Given the description of an element on the screen output the (x, y) to click on. 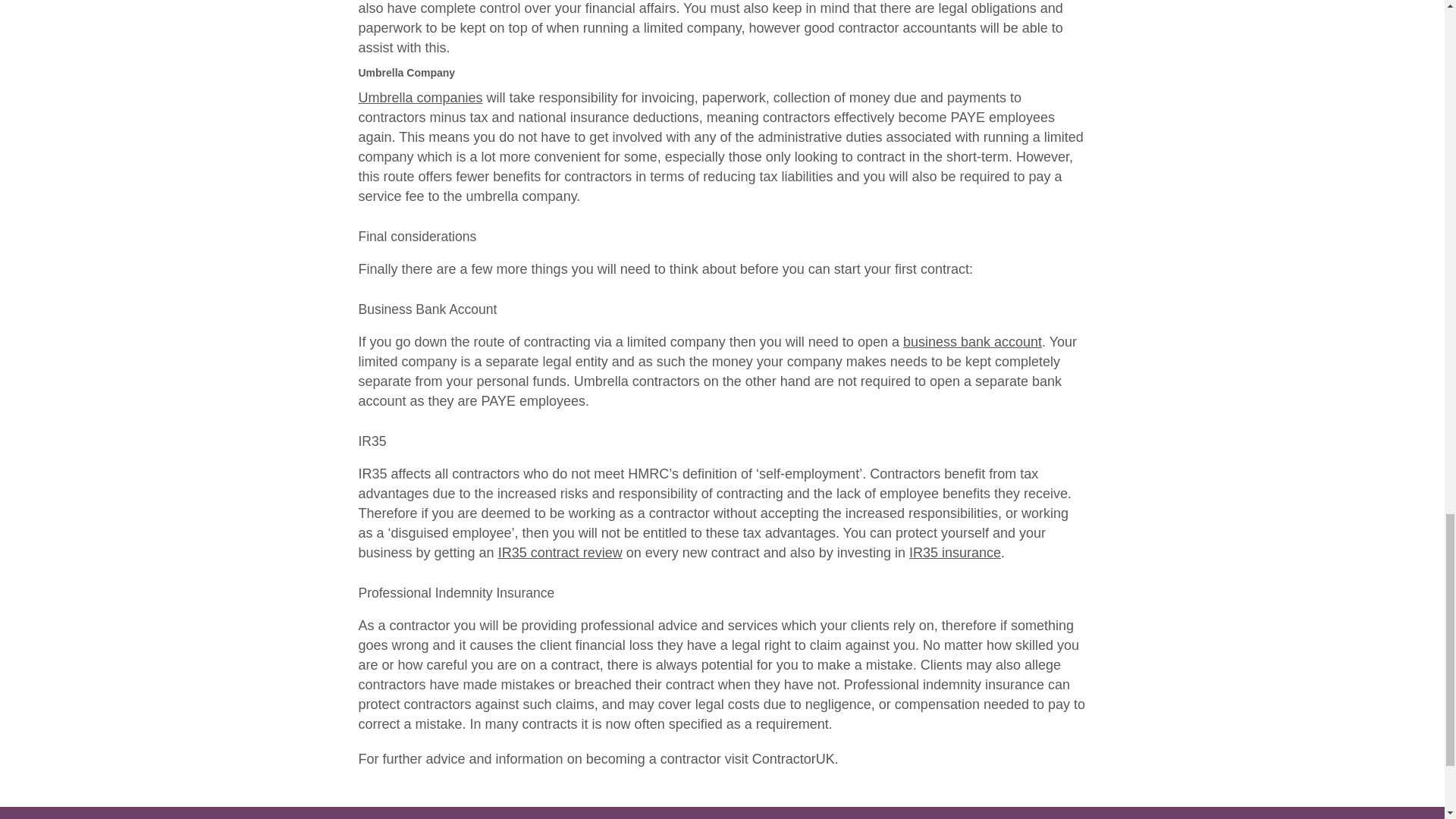
ContractorUK (793, 758)
Umbrella companies (419, 97)
business bank account (972, 341)
IR35 insurance (954, 552)
IR35 contract review (560, 552)
